Given the description of an element on the screen output the (x, y) to click on. 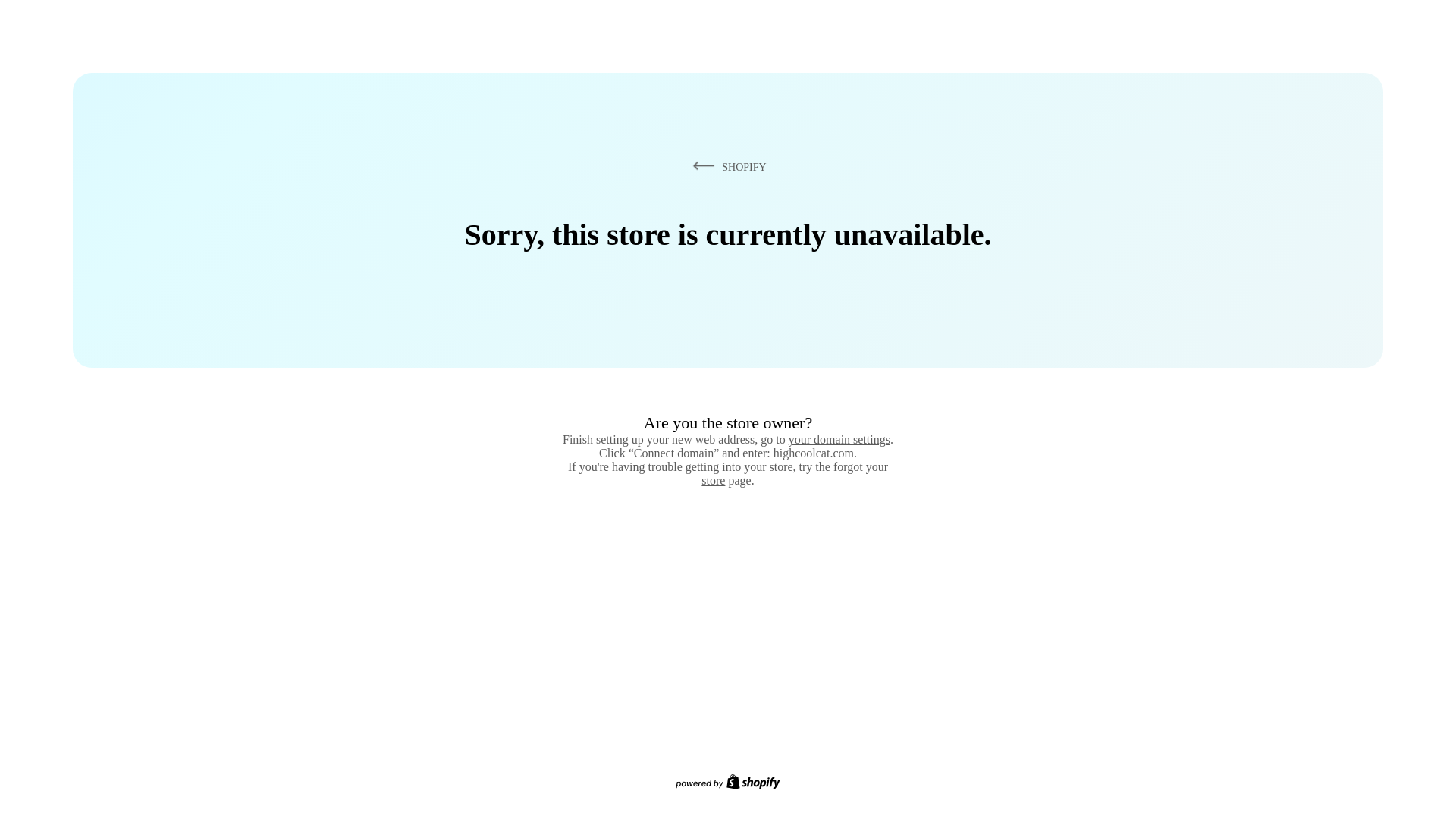
SHOPIFY (726, 166)
forgot your store (794, 473)
your domain settings (839, 439)
